Given the description of an element on the screen output the (x, y) to click on. 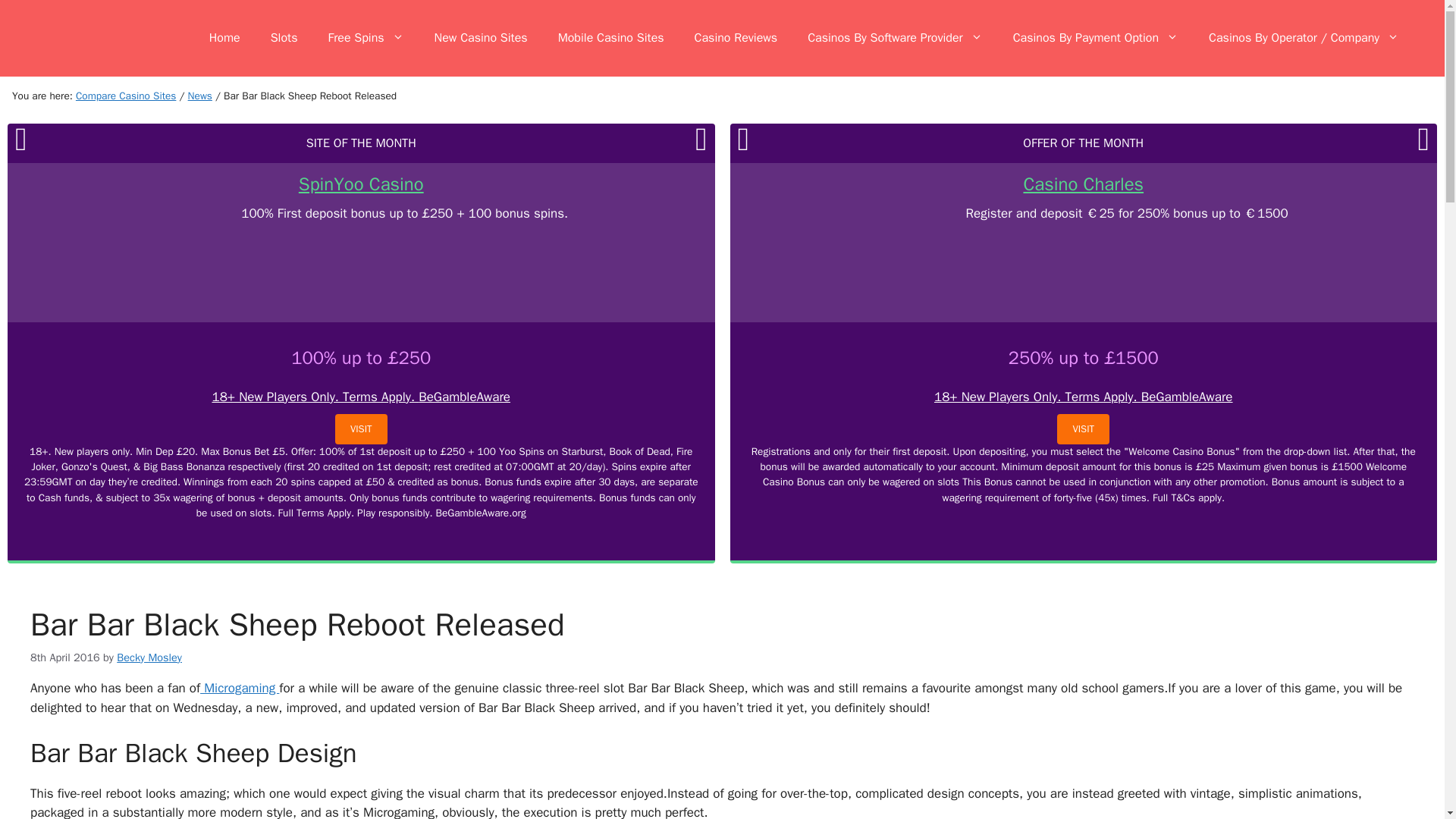
News (199, 95)
Casino Reviews (736, 37)
Slots (284, 37)
Casinos By Software Provider (894, 37)
Home (224, 37)
Item (199, 95)
New Casino Sites (481, 37)
Free Spins (366, 37)
Compare Casino Sites (125, 95)
Mobile Casino Sites (611, 37)
